Given the description of an element on the screen output the (x, y) to click on. 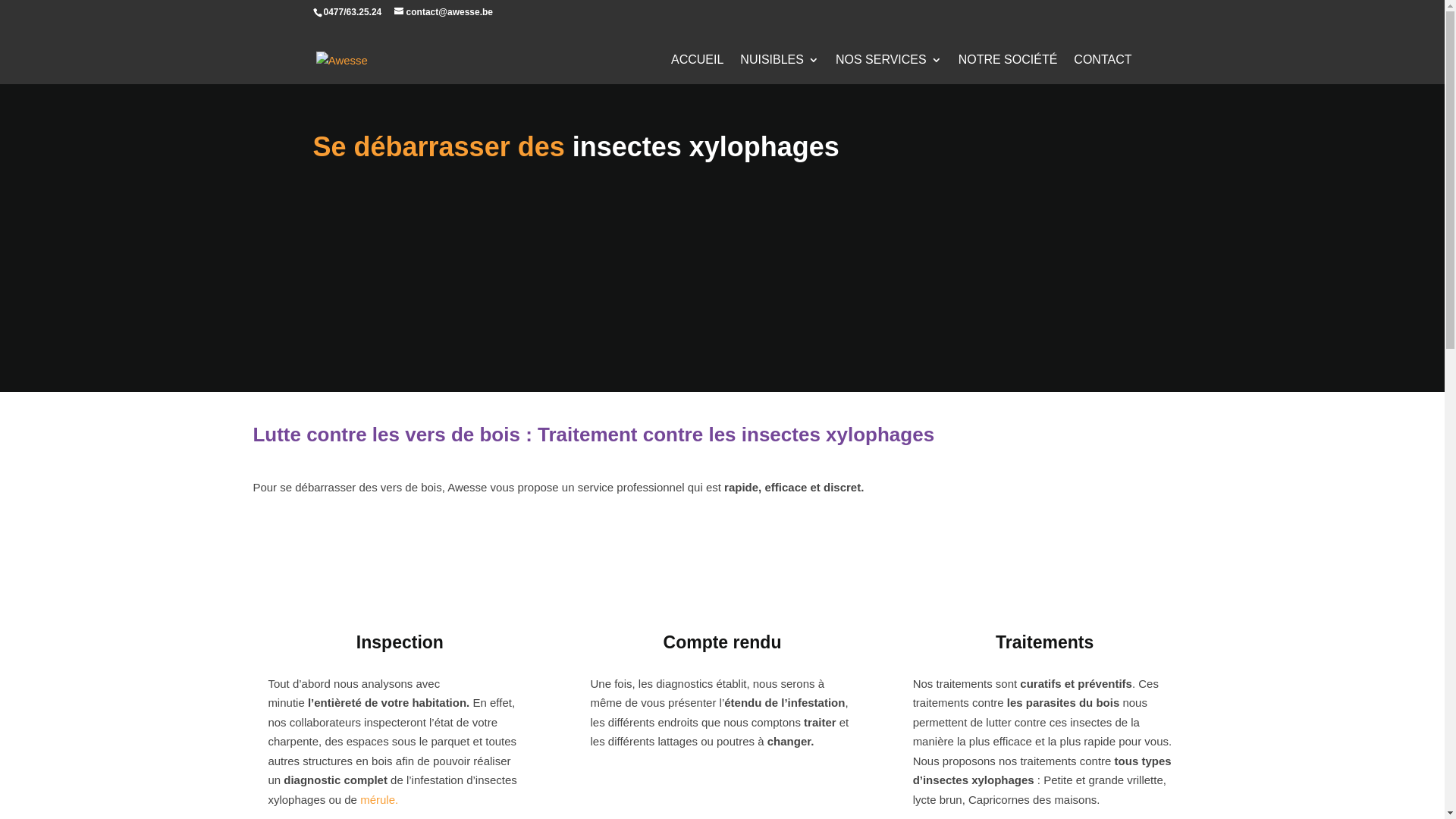
NOS SERVICES Element type: text (888, 75)
0477/63.25.24 Element type: text (352, 11)
ACCUEIL Element type: text (697, 75)
NUISIBLES Element type: text (779, 75)
contact@awesse.be Element type: text (443, 11)
CONTACT Element type: text (1102, 75)
